Given the description of an element on the screen output the (x, y) to click on. 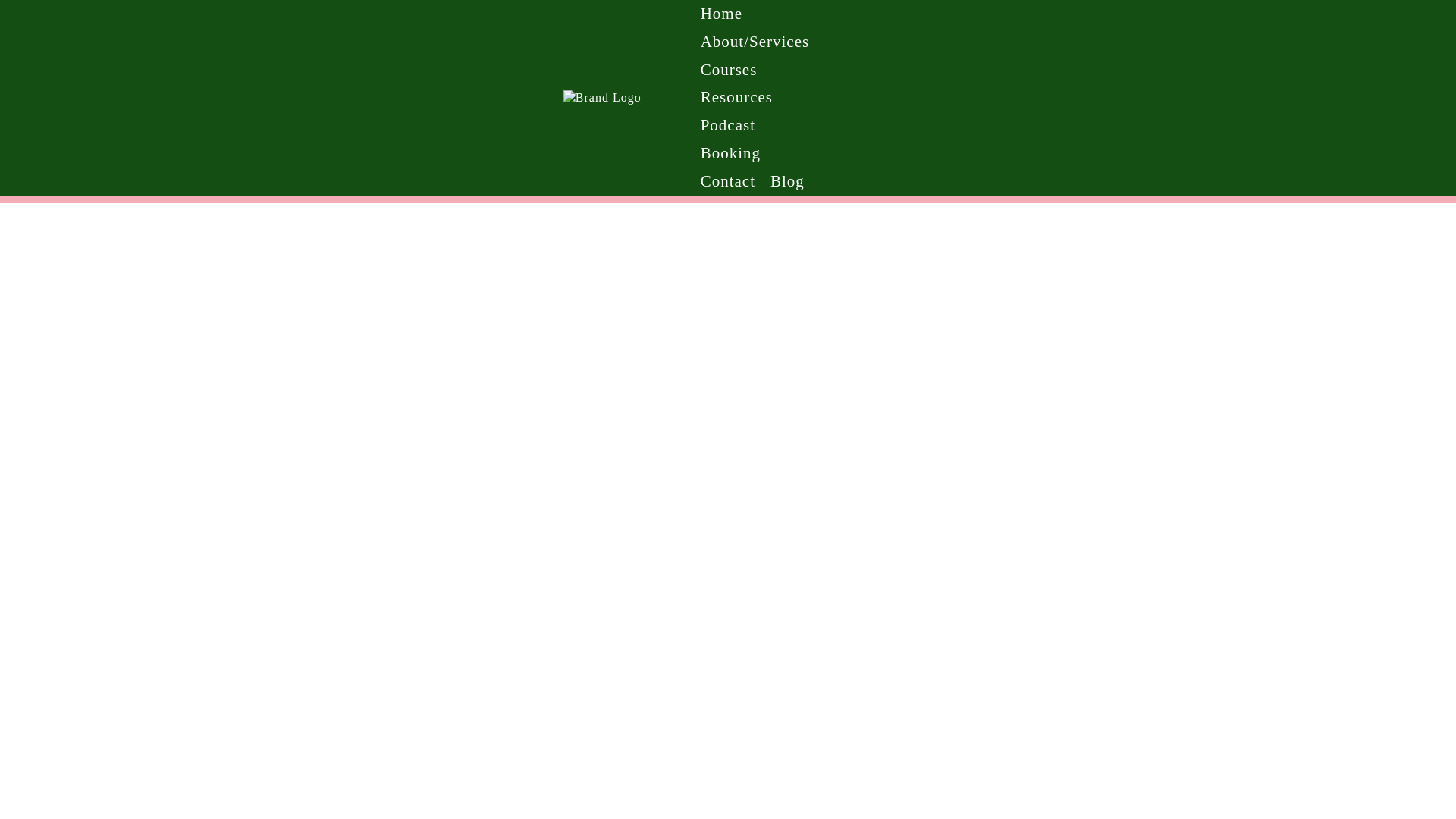
Resources (736, 97)
Courses (729, 70)
Home (721, 13)
Contact (727, 181)
Blog (787, 181)
Podcast (727, 125)
Booking (730, 153)
